Given the description of an element on the screen output the (x, y) to click on. 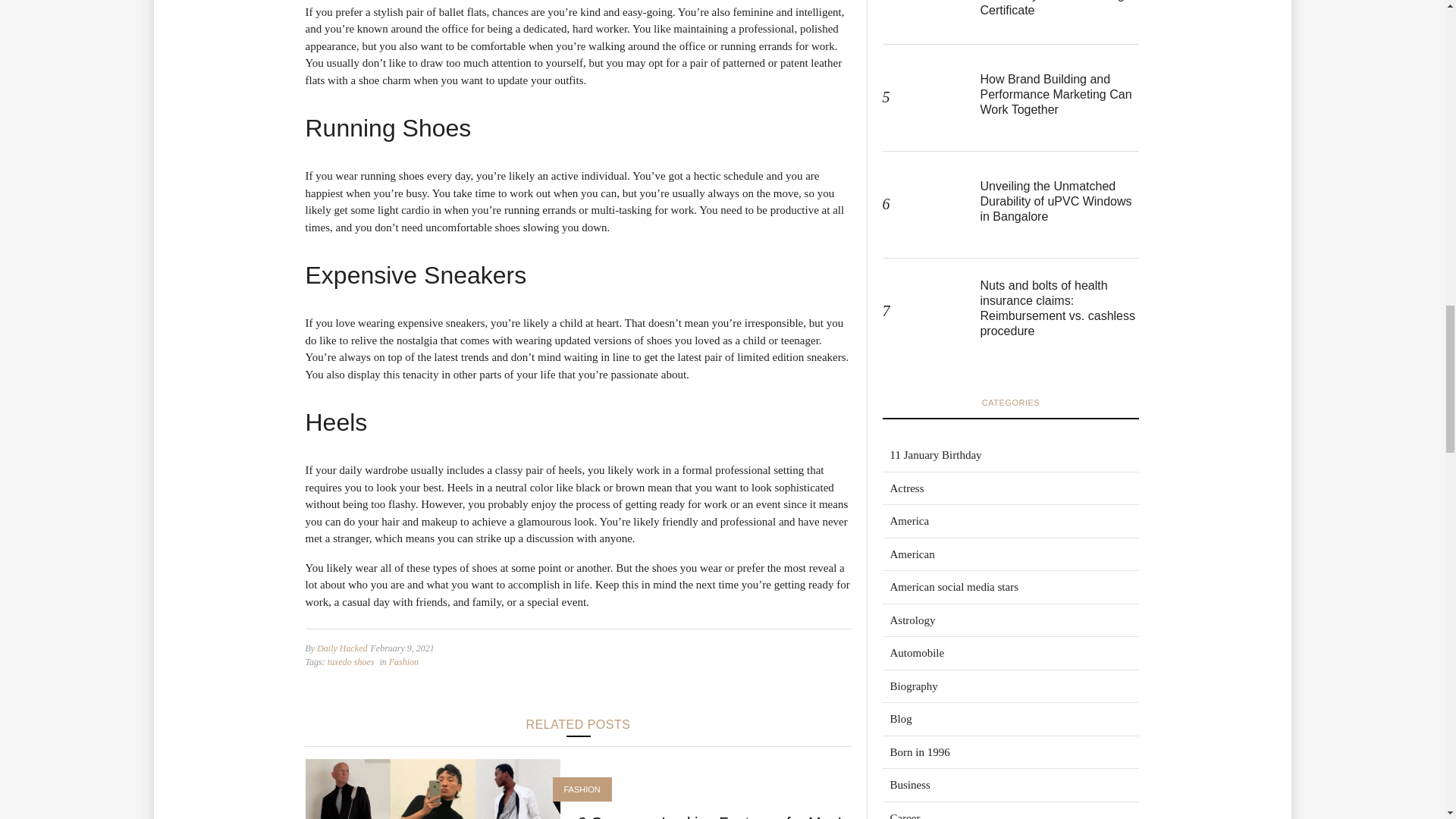
Fashion (403, 662)
Posts by Daily Hacked (341, 647)
FASHION (581, 789)
Daily Hacked (341, 647)
tuxedo shoes (350, 662)
